Given the description of an element on the screen output the (x, y) to click on. 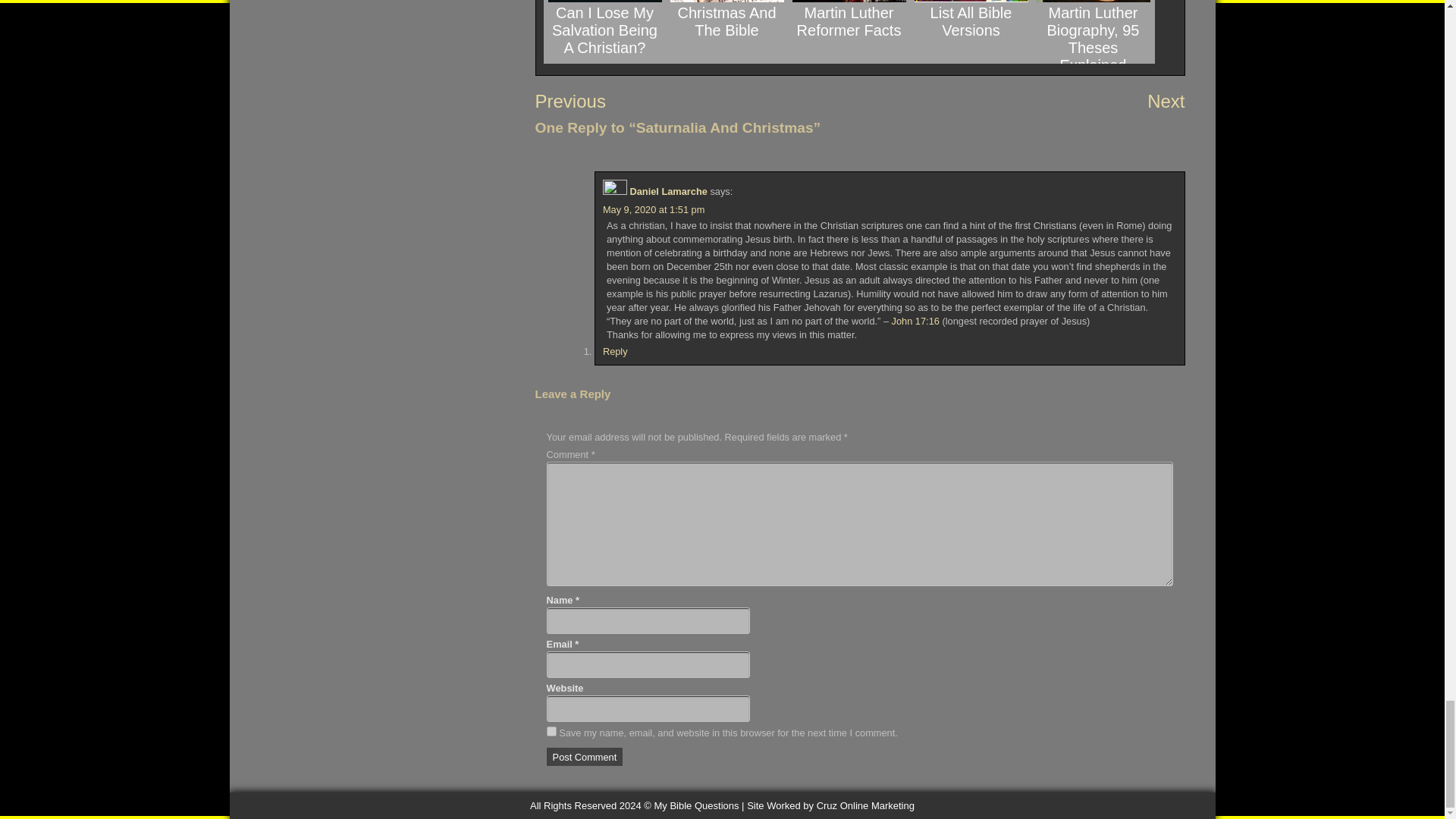
yes (551, 731)
Post Comment (585, 756)
Cruz Online Marketing (830, 805)
